Given the description of an element on the screen output the (x, y) to click on. 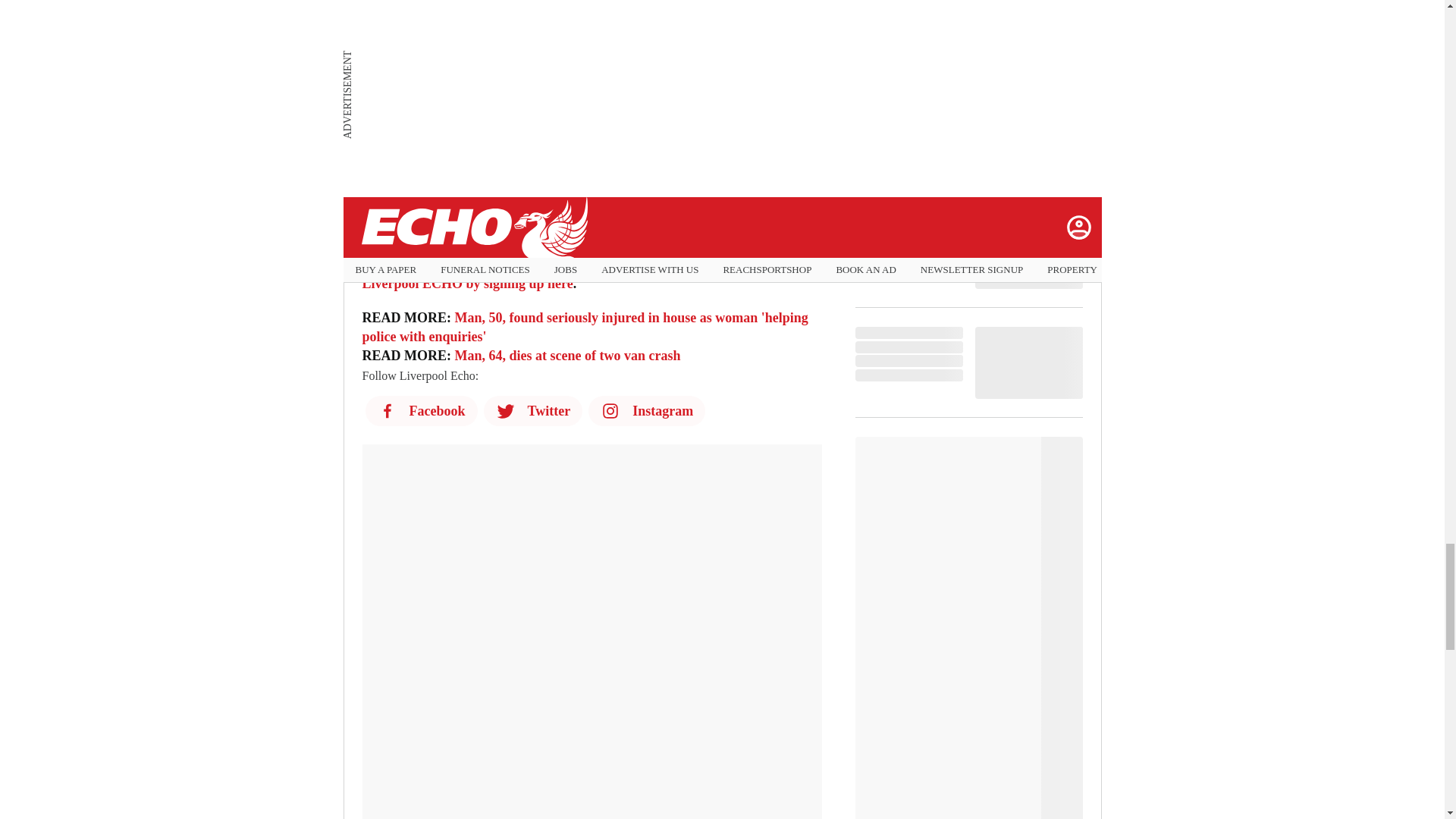
Instagram (646, 410)
Man, 64, dies at scene of two van crash (567, 355)
Twitter (533, 410)
Facebook (421, 410)
Liverpool ECHO by signing up here (467, 283)
